Given the description of an element on the screen output the (x, y) to click on. 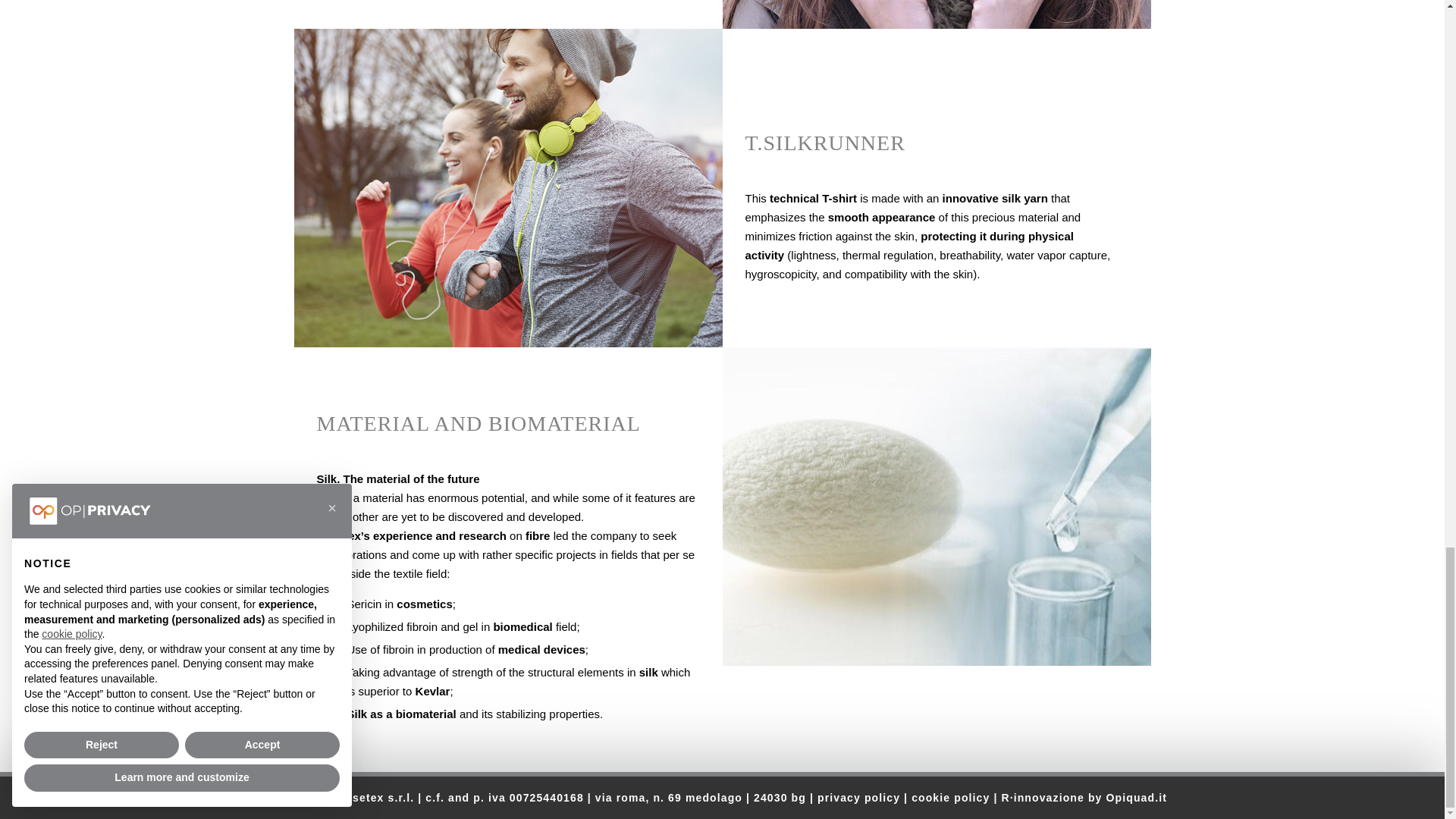
Facebook (304, 797)
